Given the description of an element on the screen output the (x, y) to click on. 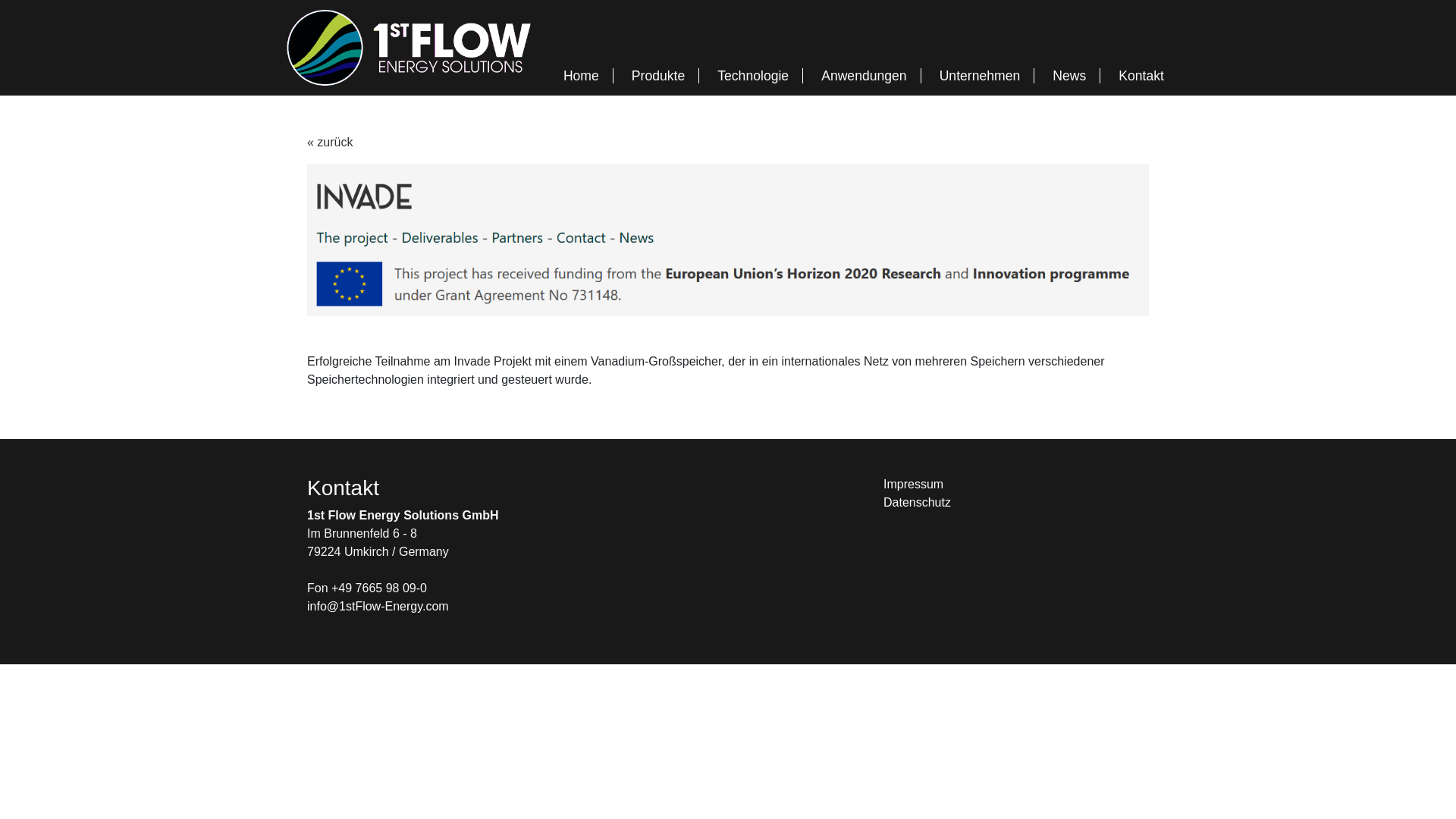
Anwendungen Element type: text (864, 75)
Technologie Element type: text (752, 75)
News Element type: text (1069, 75)
Impressum Element type: text (913, 483)
Kontakt Element type: text (1141, 75)
Datenschutz Element type: text (916, 501)
Home Element type: text (581, 75)
info@1stFlow-Energy.com Element type: text (377, 605)
Unternehmen Element type: text (979, 75)
Produkte Element type: text (657, 75)
